Given the description of an element on the screen output the (x, y) to click on. 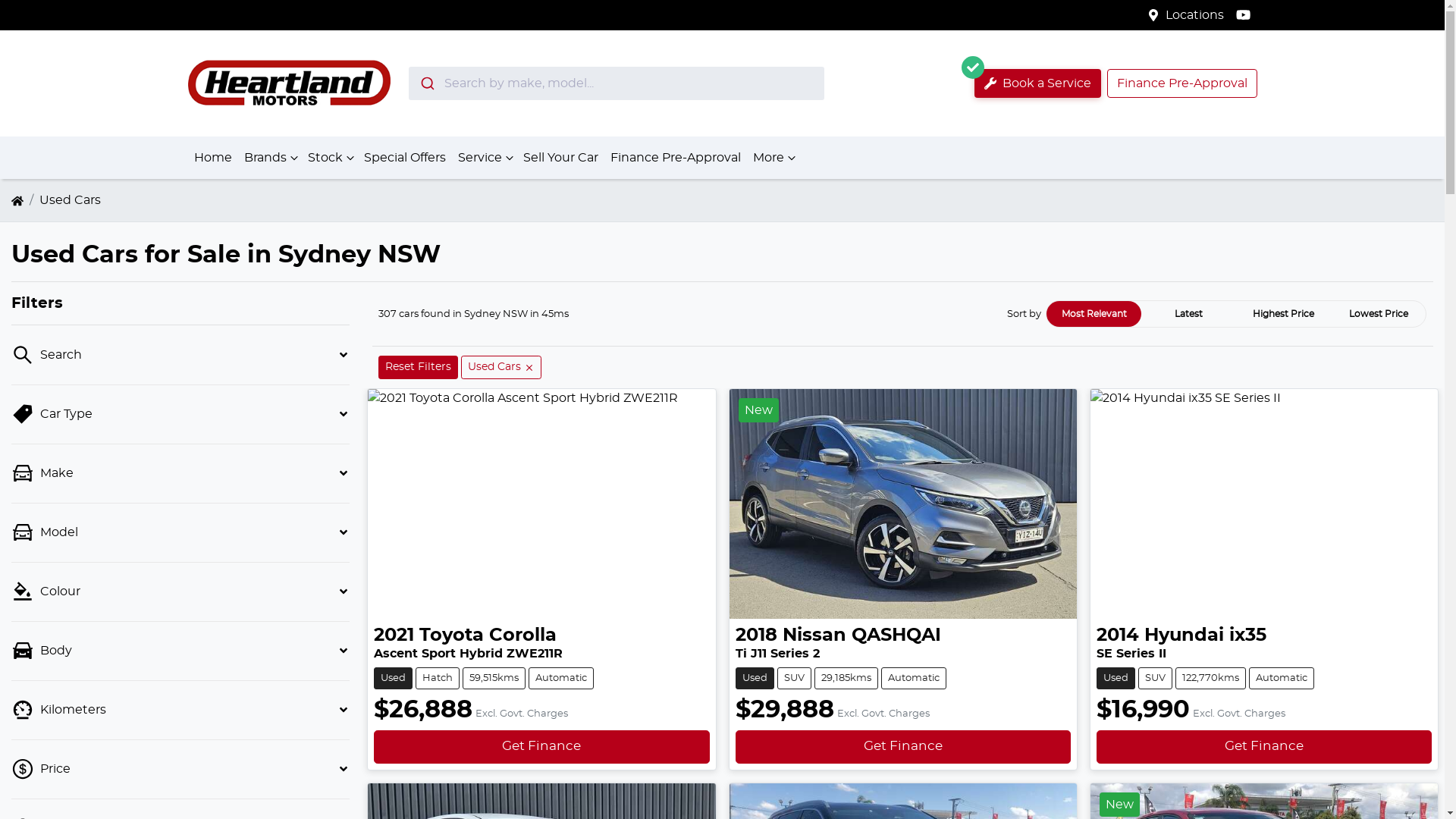
Price Element type: text (180, 769)
Stock Element type: text (329, 157)
Search Element type: text (180, 355)
Get Finance Element type: text (1263, 746)
New Element type: text (902, 503)
Submit Element type: hover (426, 83)
Finance Pre-Approval Element type: text (674, 157)
Sell Your Car Element type: text (560, 157)
Kilometers Element type: text (180, 710)
Locations Element type: text (1194, 15)
Get Finance Element type: text (902, 746)
More Element type: text (772, 157)
Car Type Element type: text (180, 414)
Special Offers Element type: text (404, 157)
Body Element type: text (180, 650)
Model Element type: text (180, 532)
Make Element type: text (180, 473)
Brands Element type: text (269, 157)
Reset Filters Element type: text (418, 367)
Colour Element type: text (180, 591)
Book a Service Element type: text (1036, 82)
Service Element type: text (484, 157)
Home Element type: text (213, 157)
Finance Pre-Approval Element type: text (1182, 82)
Get Finance Element type: text (541, 746)
